Given the description of an element on the screen output the (x, y) to click on. 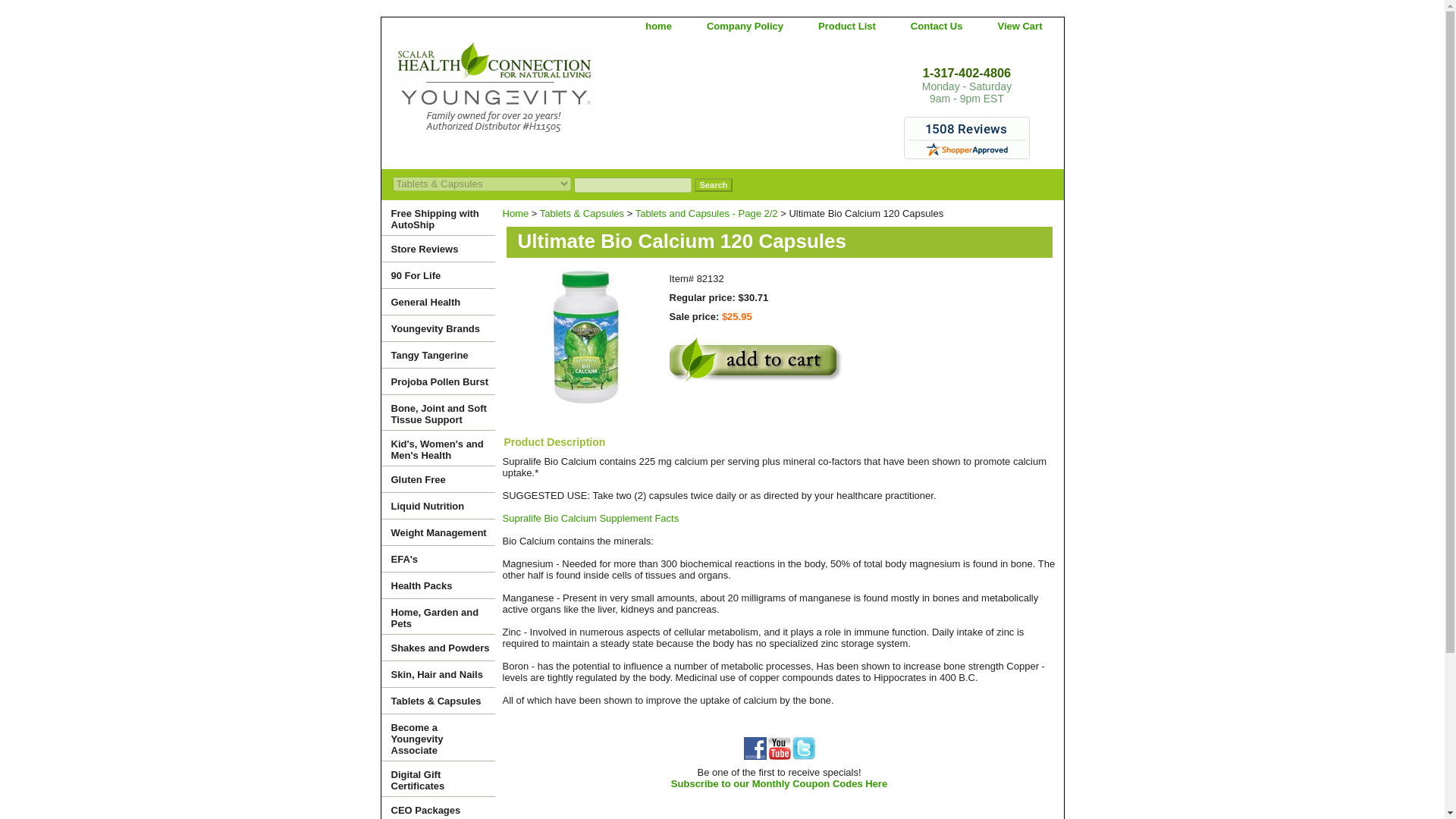
Search (713, 184)
Gluten Free (437, 479)
EFA's (437, 559)
Subscribe to our Monthly Coupon Codes Here (778, 783)
Company Policy (744, 26)
Bone, Joint and Soft Tissue Support (437, 412)
Kid's, Women's and Men's Health (437, 448)
Kid's, Women's and Men's Health (437, 448)
Tangy Tangerine (437, 355)
Digital Gift Certificates (437, 778)
